Given the description of an element on the screen output the (x, y) to click on. 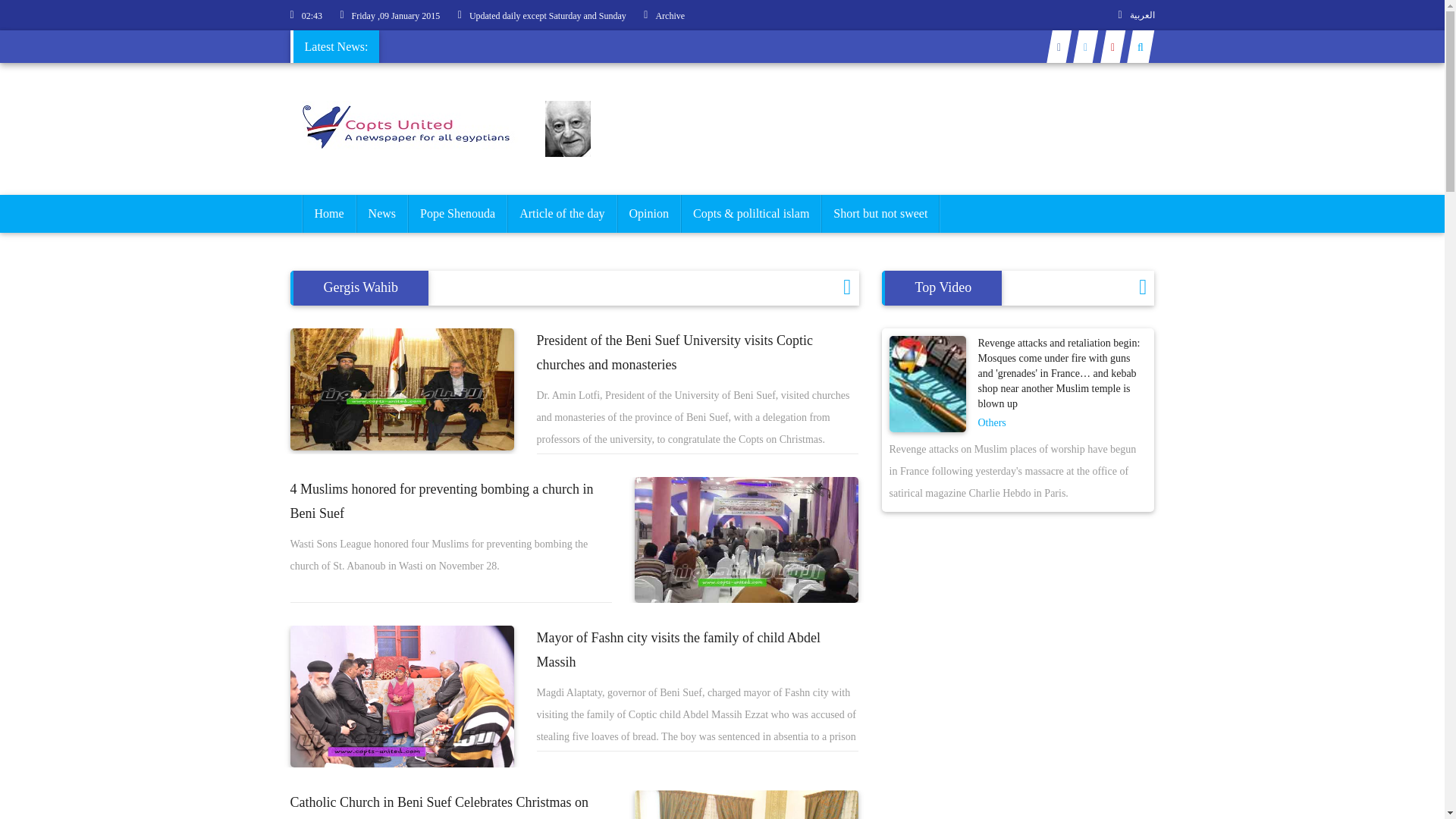
Home (328, 213)
Article of the day (561, 213)
Pope Shenouda (457, 213)
Short but not sweet (880, 213)
News (381, 213)
Opinion (648, 213)
